Given the description of an element on the screen output the (x, y) to click on. 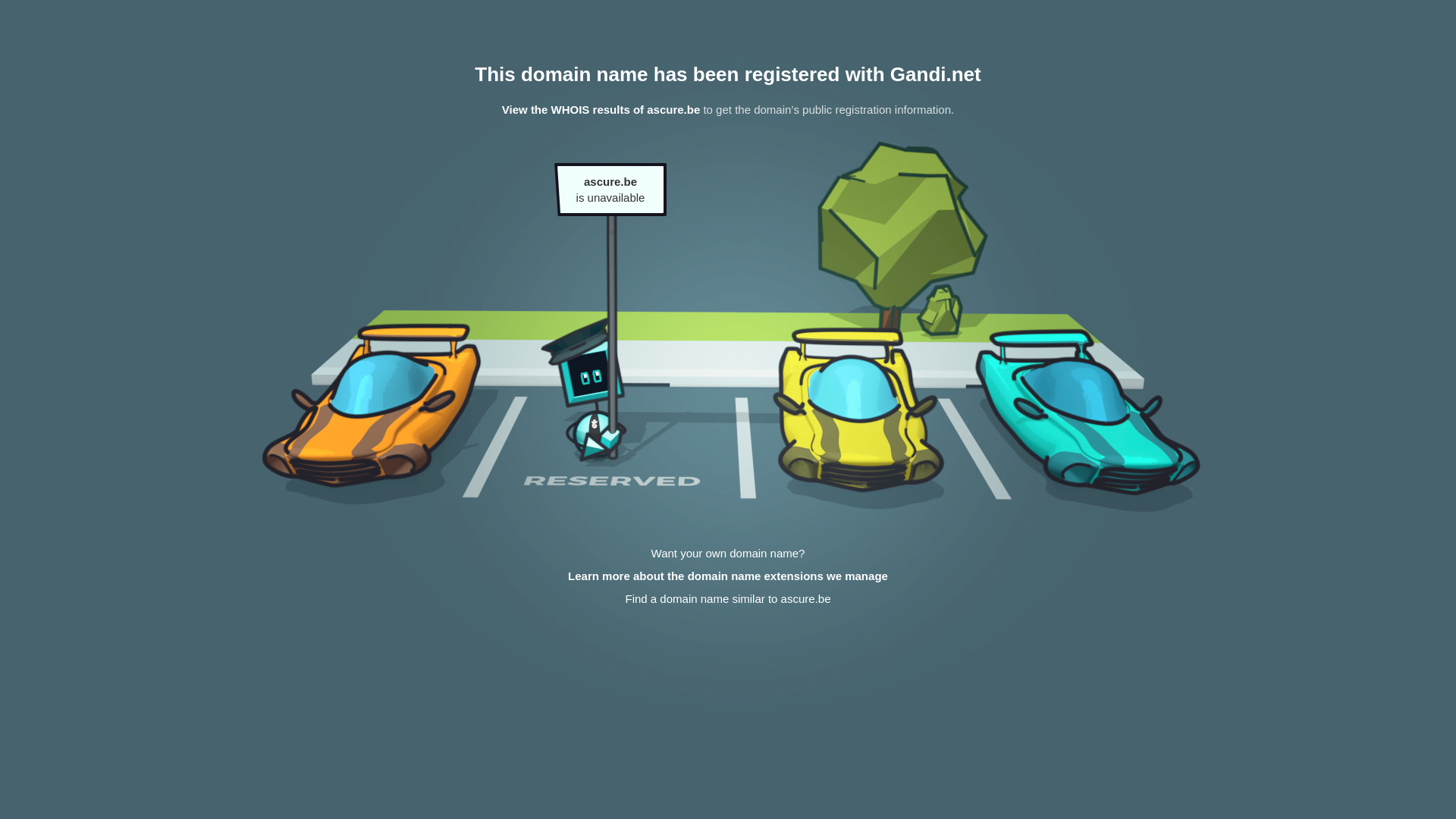
Learn more about the domain name extensions we manage Element type: text (727, 575)
View the WHOIS results of ascure.be Element type: text (600, 109)
Find a domain name similar to ascure.be Element type: text (728, 598)
